Given the description of an element on the screen output the (x, y) to click on. 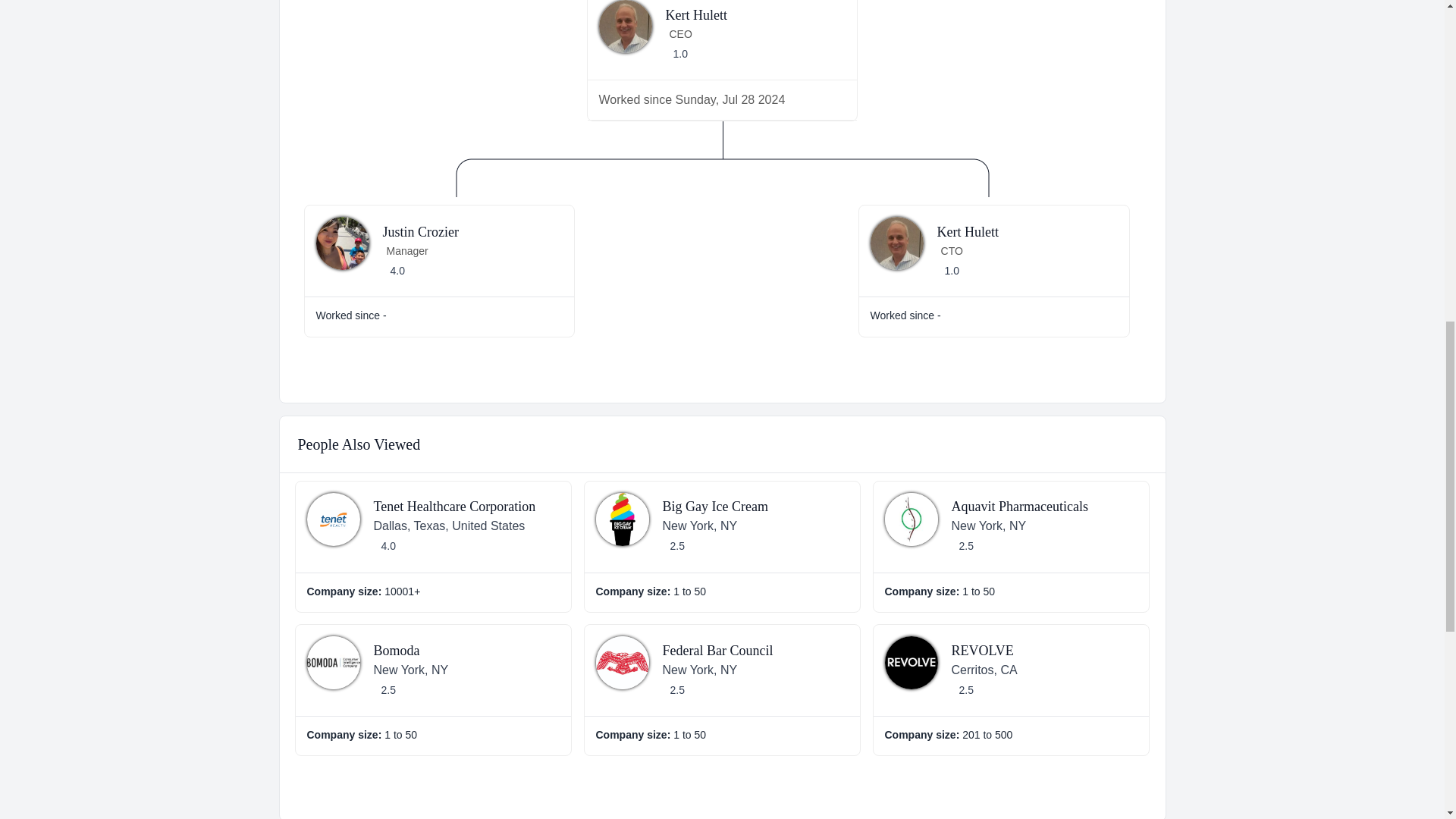
Aquavit Pharmaceuticals (1018, 506)
Bomoda (395, 650)
Justin Crozier (419, 231)
Kert Hulett (695, 14)
REVOLVE (981, 650)
Kert Hulett (967, 231)
Federal Bar Council (717, 650)
Big Gay Ice Cream (715, 506)
Tenet Healthcare Corporation (453, 506)
